Given the description of an element on the screen output the (x, y) to click on. 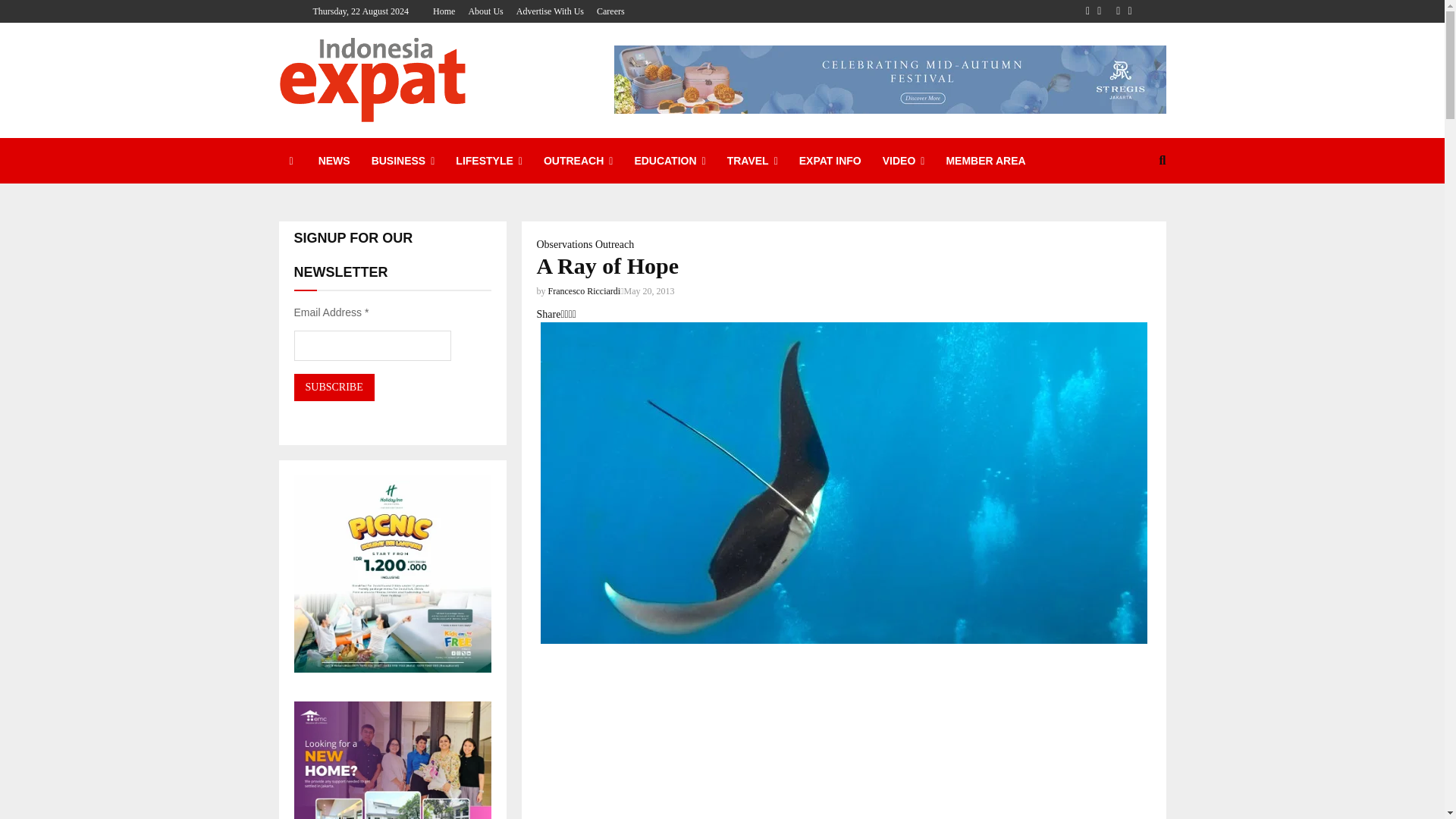
VIDEO (904, 160)
LIFESTYLE (488, 160)
Careers (610, 11)
OUTREACH (577, 160)
BUSINESS (403, 160)
Home (443, 11)
EXPAT INFO (830, 160)
About Us (484, 11)
MEMBER AREA (984, 160)
Subscribe (334, 387)
